Given the description of an element on the screen output the (x, y) to click on. 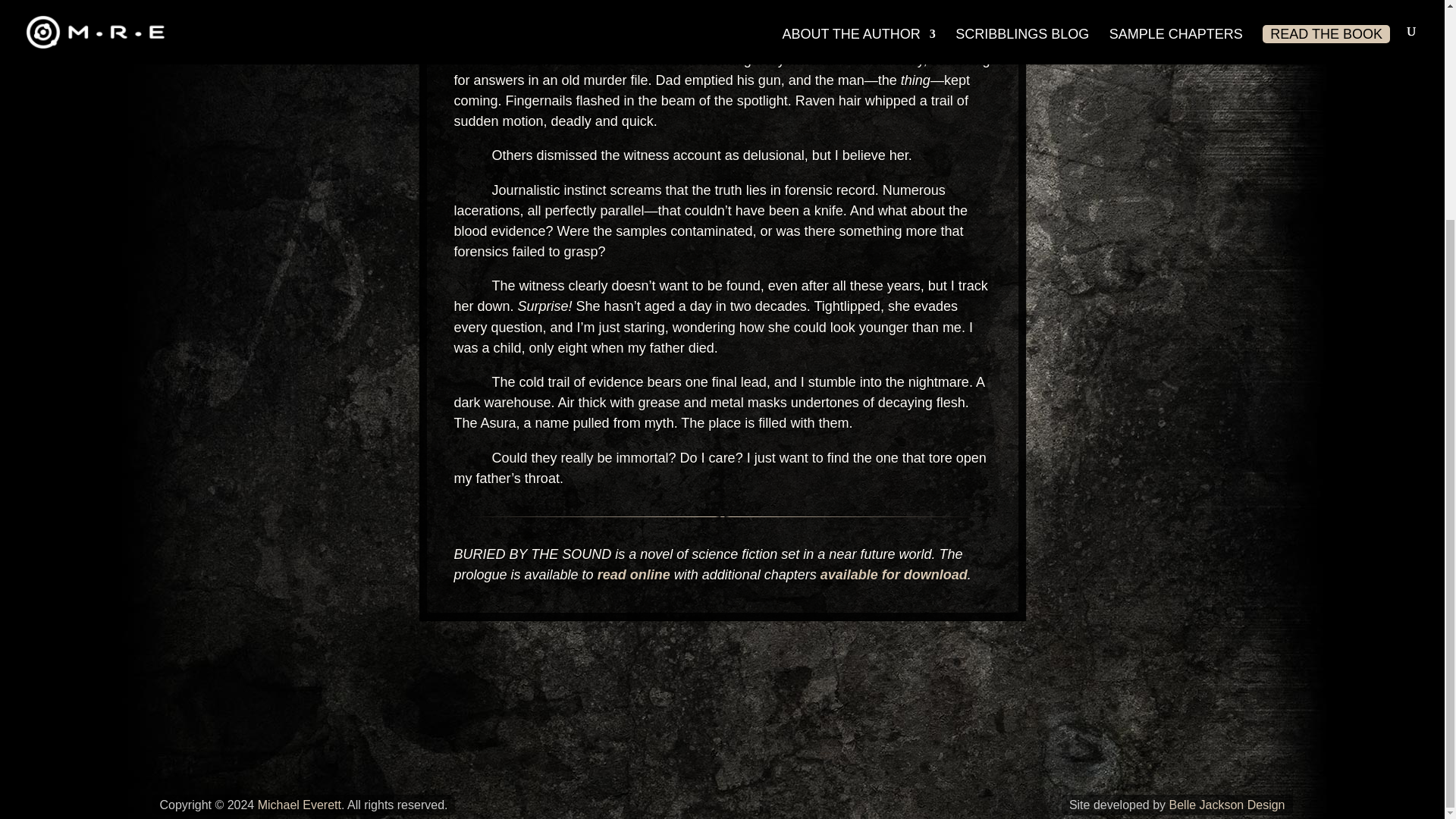
available for download (894, 574)
Belle Jackson Design (1227, 804)
Michael Everett (298, 804)
read online (632, 574)
